Given the description of an element on the screen output the (x, y) to click on. 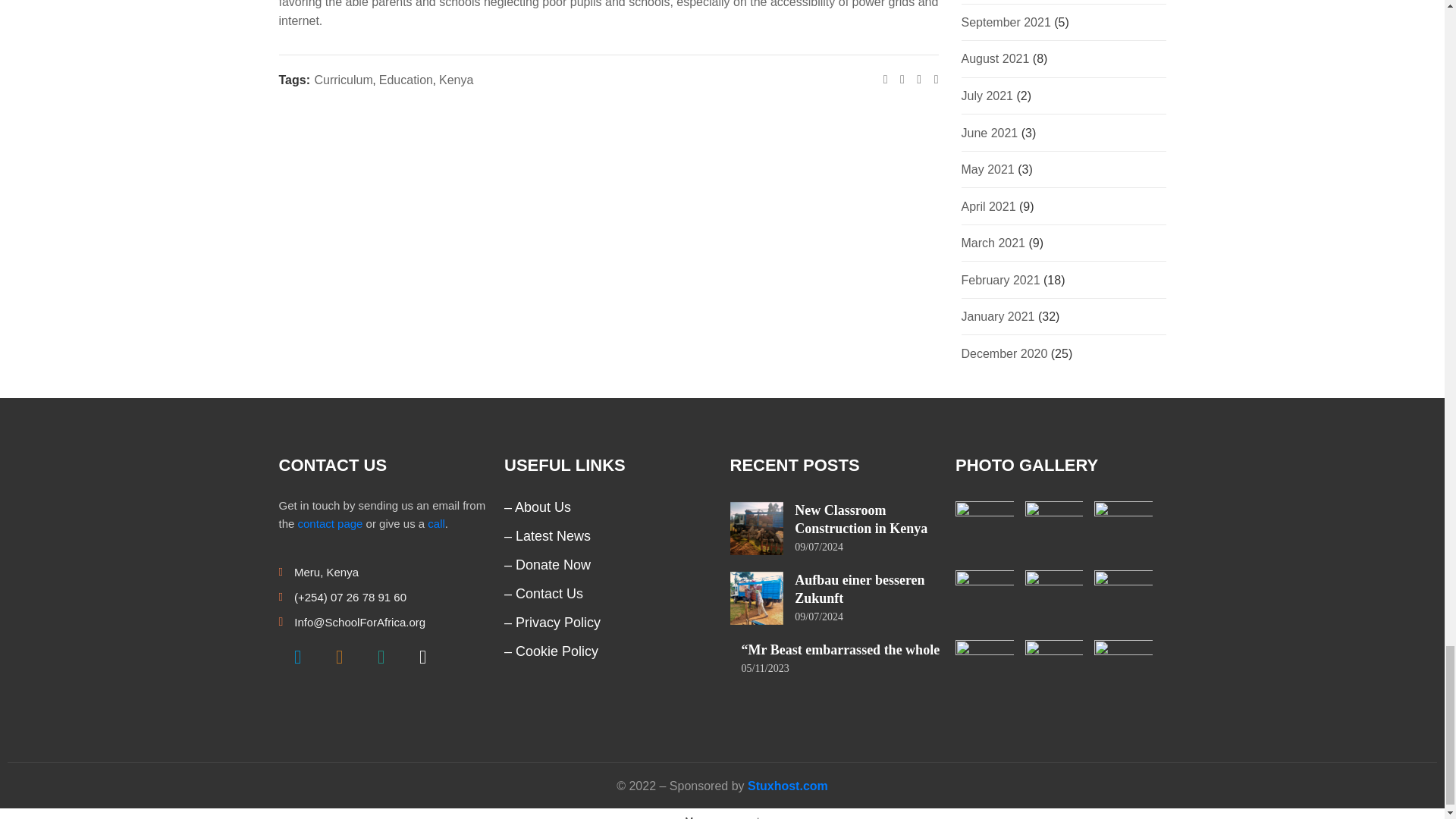
New Classroom Construction in Kenya (860, 519)
Aufbau einer besseren Zukunft (859, 589)
Kenya (456, 79)
Education (405, 79)
Curriculum (343, 79)
